Given the description of an element on the screen output the (x, y) to click on. 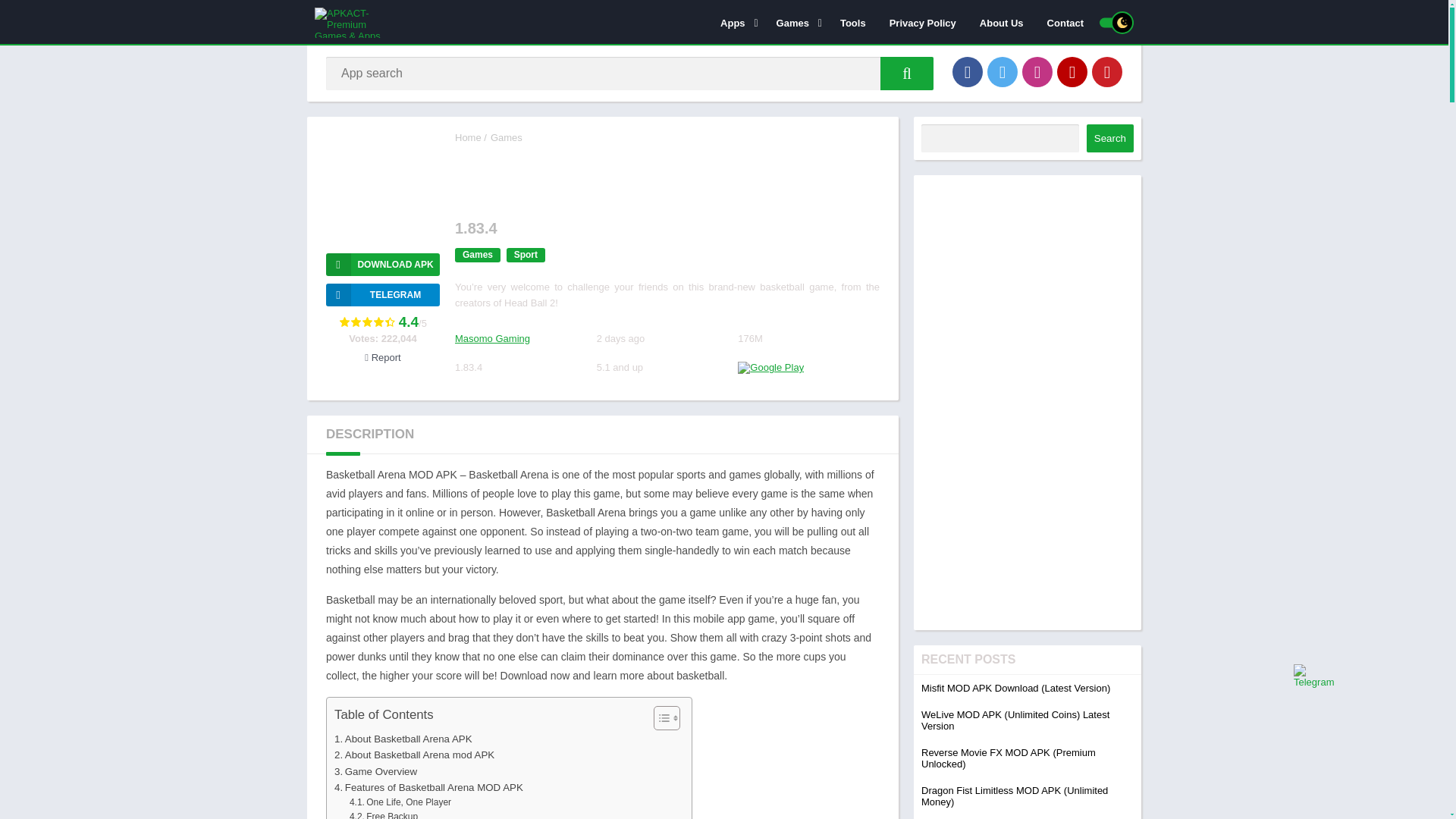
About Basketball Arena APK (402, 738)
Apps (736, 22)
Tools (852, 22)
About Us (1001, 22)
Game Overview (375, 771)
Privacy Policy (922, 22)
Facebook (967, 71)
Features of Basketball Arena MOD APK (428, 787)
Twitter (1002, 71)
About Basketball Arena mod APK (414, 754)
